Given the description of an element on the screen output the (x, y) to click on. 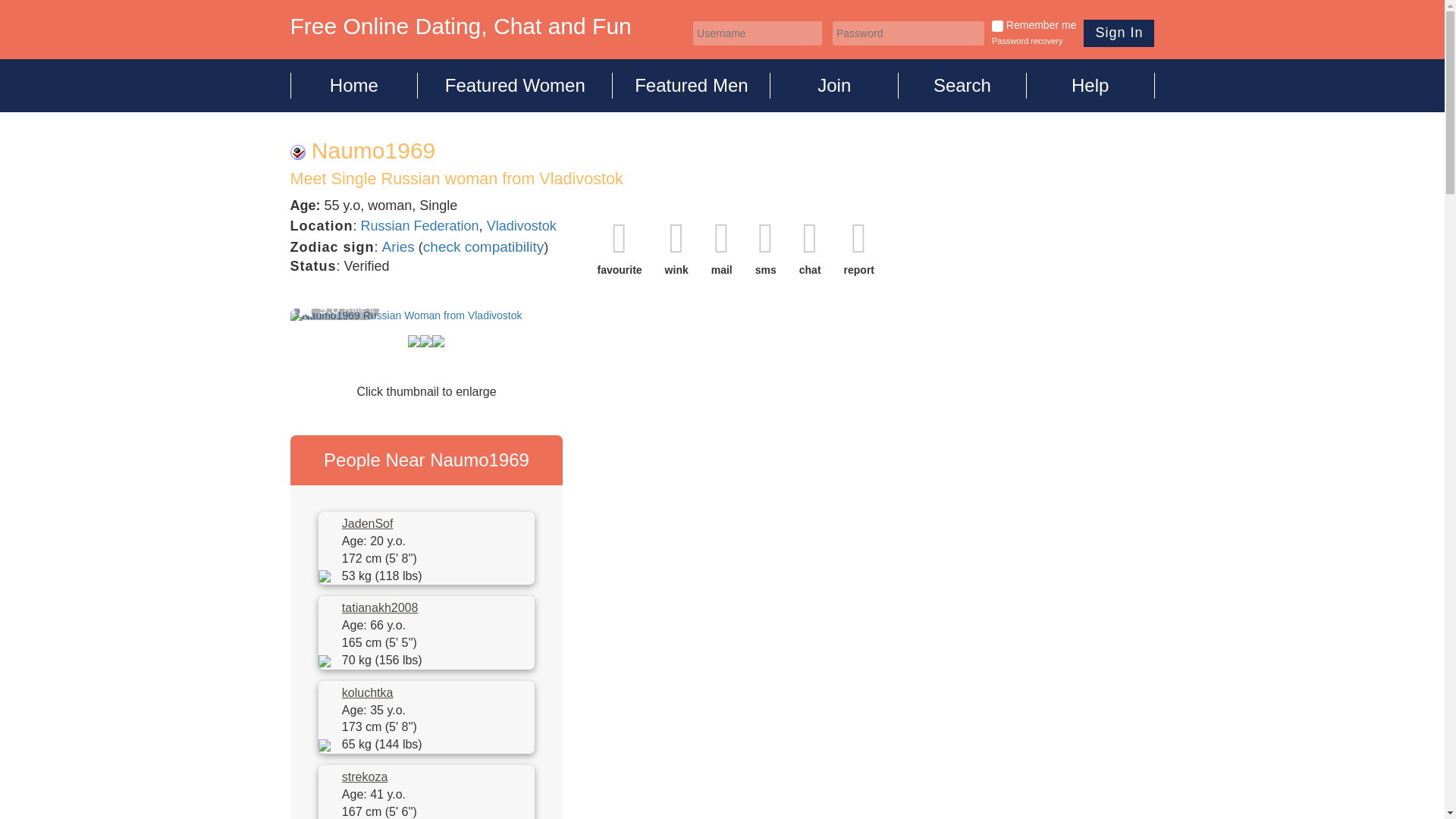
Sign In (1118, 32)
check compatibility (483, 246)
Sign In (1118, 32)
Vladivostok (521, 225)
Russian Federation (420, 225)
tatianakh2008 (380, 608)
Password recovery (1026, 40)
Help (1090, 85)
Home (353, 85)
